Given the description of an element on the screen output the (x, y) to click on. 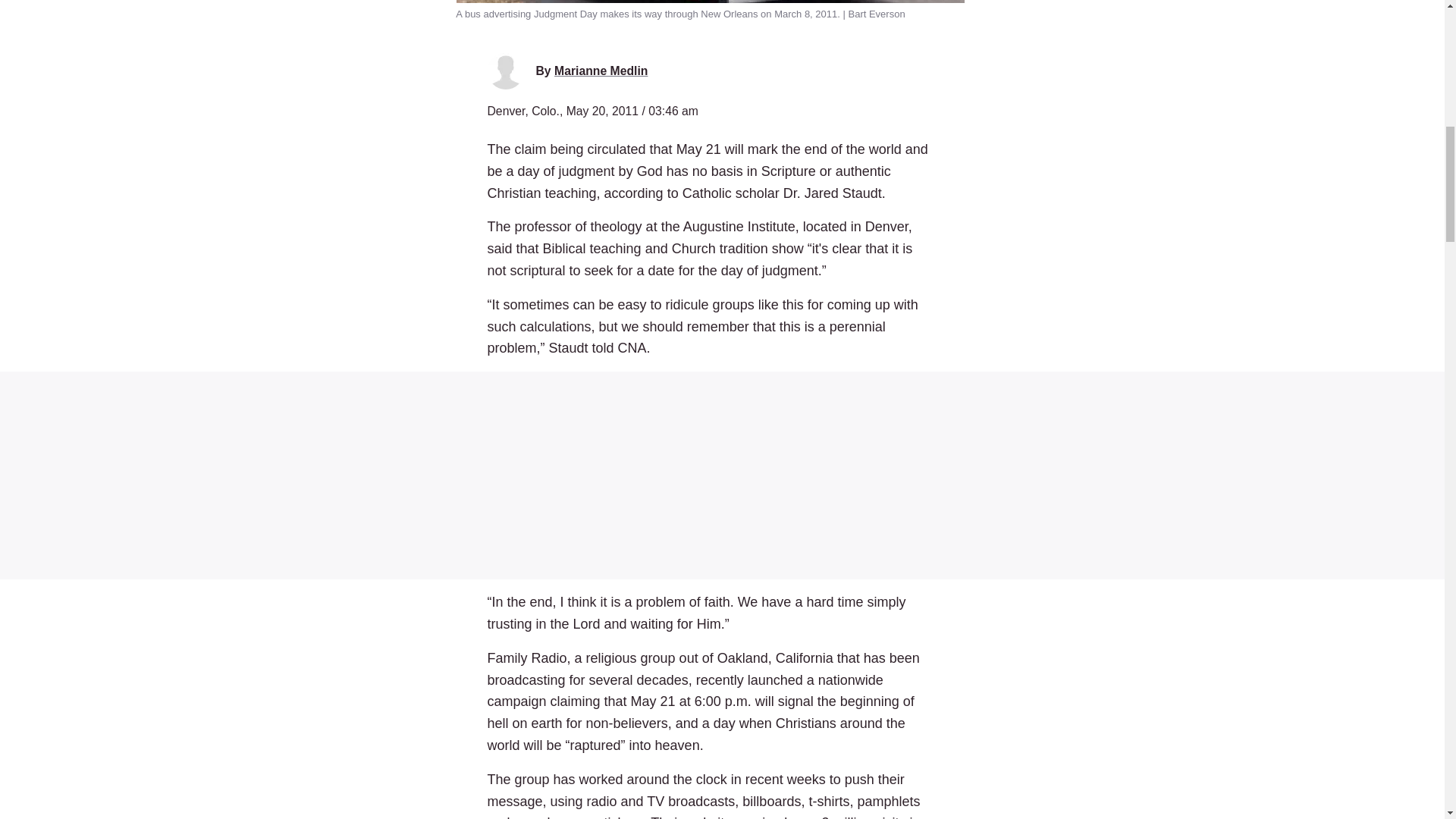
3rd party ad content (721, 475)
